Given the description of an element on the screen output the (x, y) to click on. 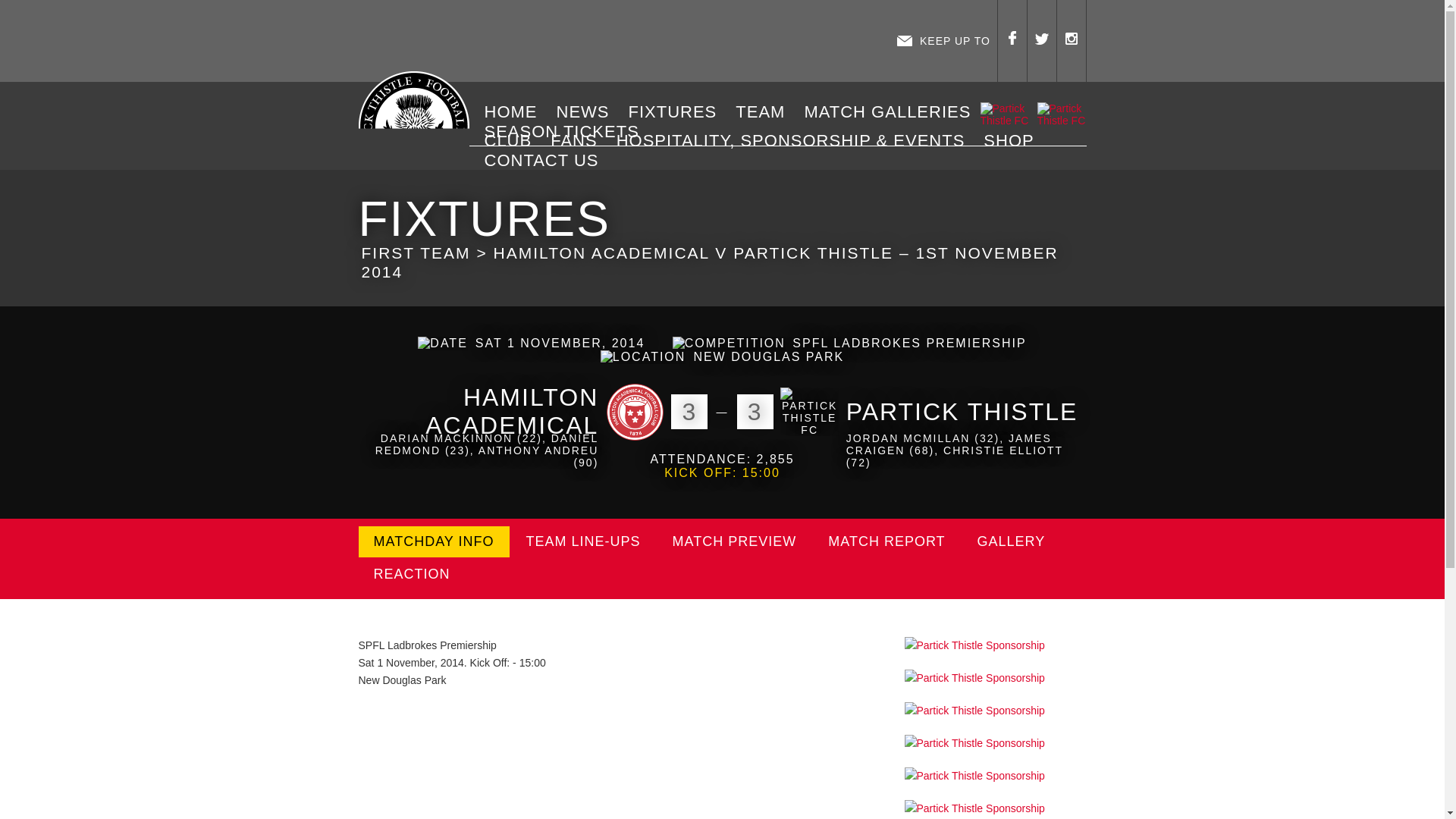
FIXTURES (678, 112)
MATCH REPORT (885, 541)
CLUB (513, 140)
SEASON TICKETS (566, 131)
Enter the JAGZONE (623, 40)
REACTION (411, 573)
TEAM LINE-UPS (583, 541)
FANS (579, 140)
Partick Thistle FC (809, 412)
